Given the description of an element on the screen output the (x, y) to click on. 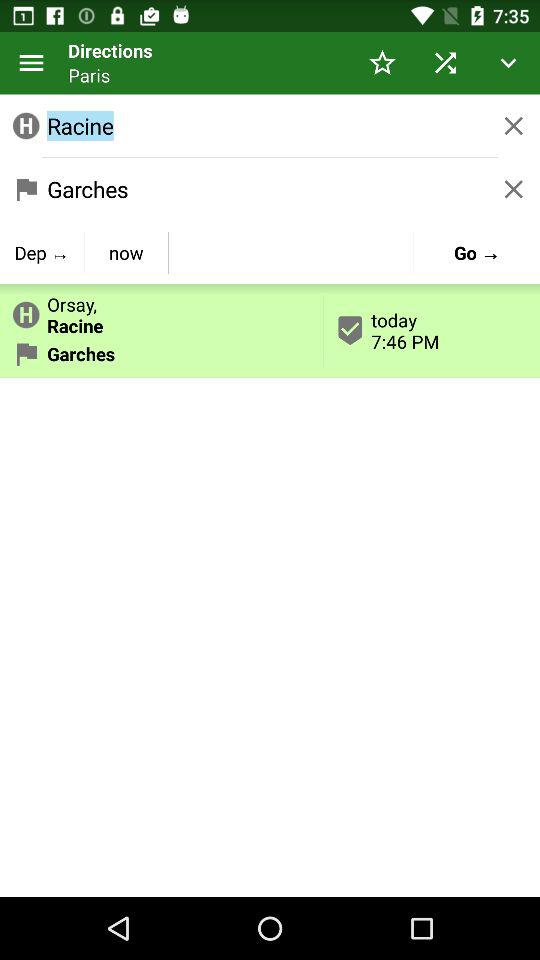
press the button on the right (432, 330)
